Given the description of an element on the screen output the (x, y) to click on. 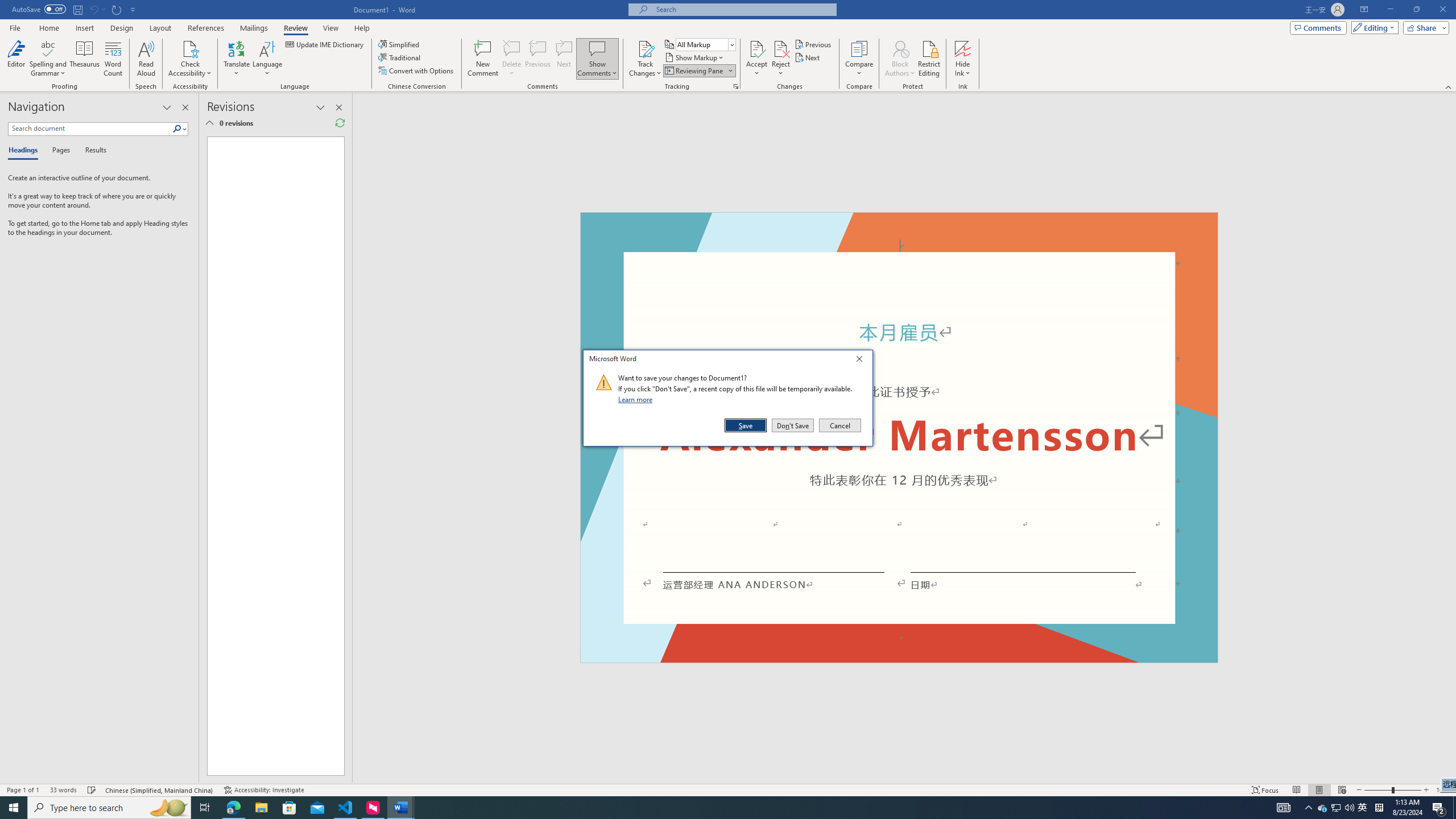
Traditional (400, 56)
Mode (1372, 27)
Spelling and Grammar (48, 48)
Delete (511, 58)
Minimize (1390, 9)
Customize Quick Access Toolbar (133, 9)
Refresh Reviewing Pane (339, 122)
Display for Review (705, 44)
Hide Ink (962, 58)
Language Chinese (Simplified, Mainland China) (159, 790)
Quick Access Toolbar (74, 9)
Task View (204, 807)
Zoom Out (1377, 790)
AutomationID: 4105 (1283, 807)
Track Changes (644, 48)
